Given the description of an element on the screen output the (x, y) to click on. 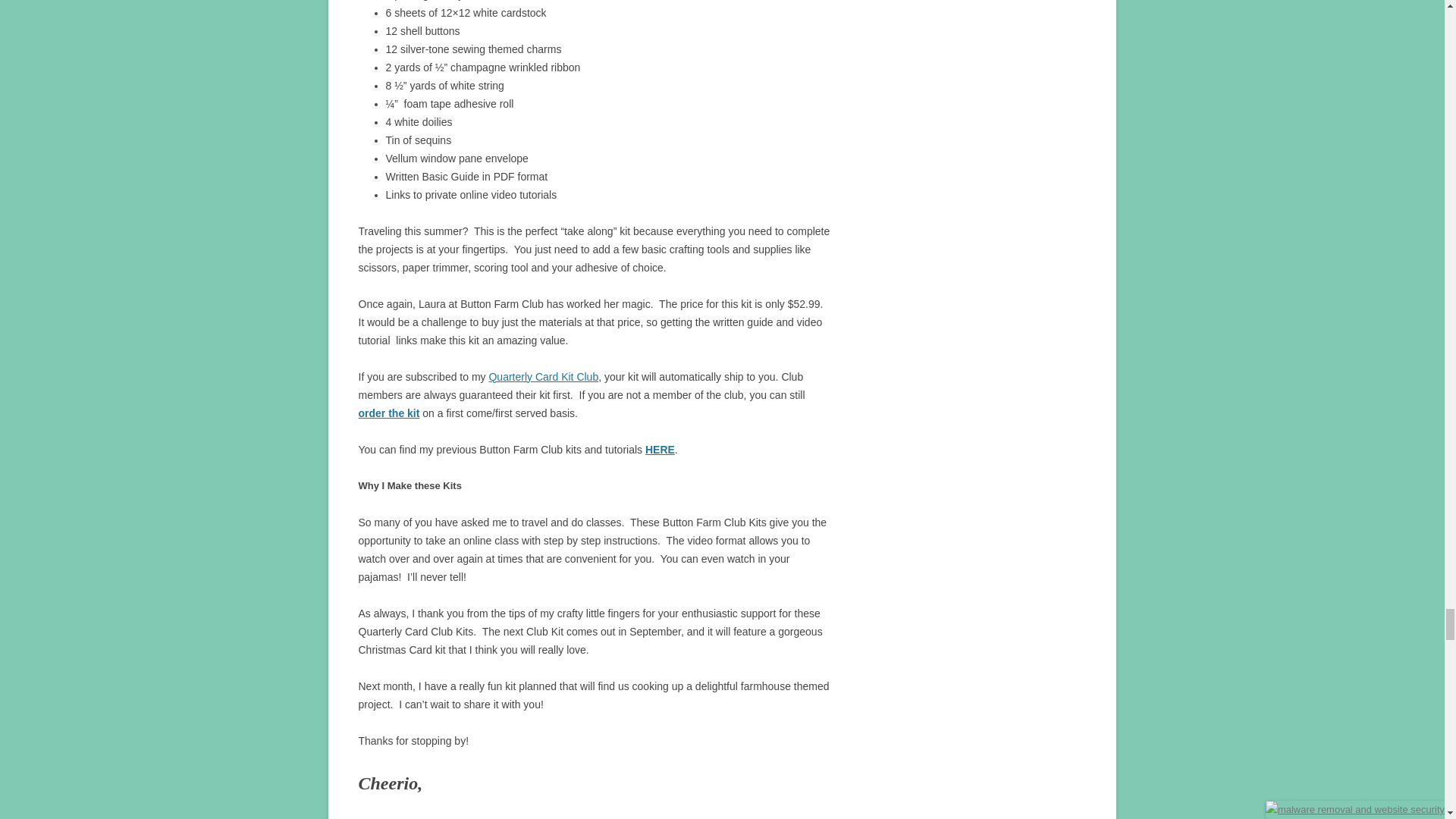
HERE (660, 449)
Quarterly Card Kit Club (542, 377)
order the kit (388, 413)
